Given the description of an element on the screen output the (x, y) to click on. 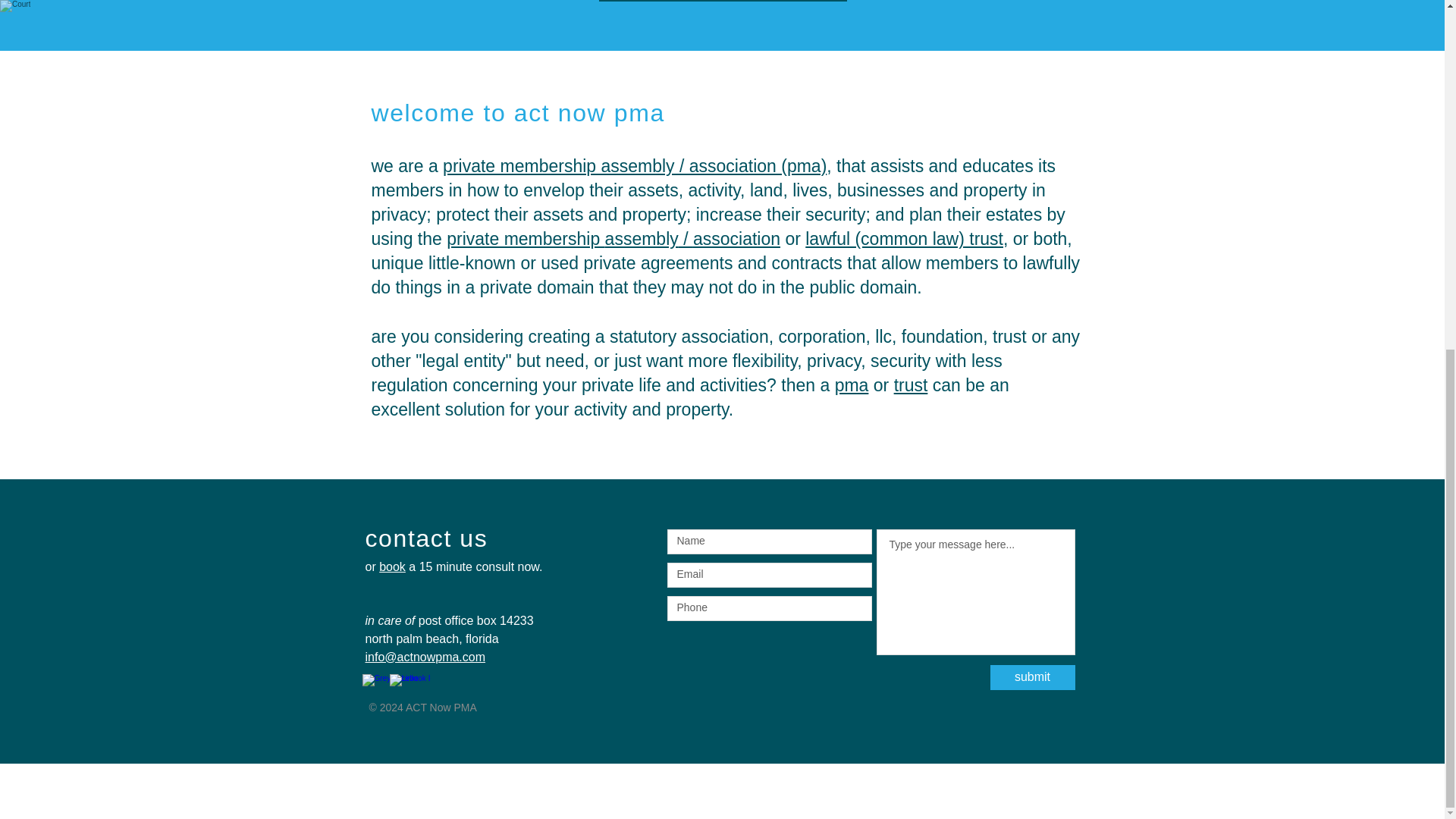
trust (910, 384)
book (392, 566)
submit (1032, 677)
assembly (641, 238)
association (736, 238)
private membership (525, 238)
